Given the description of an element on the screen output the (x, y) to click on. 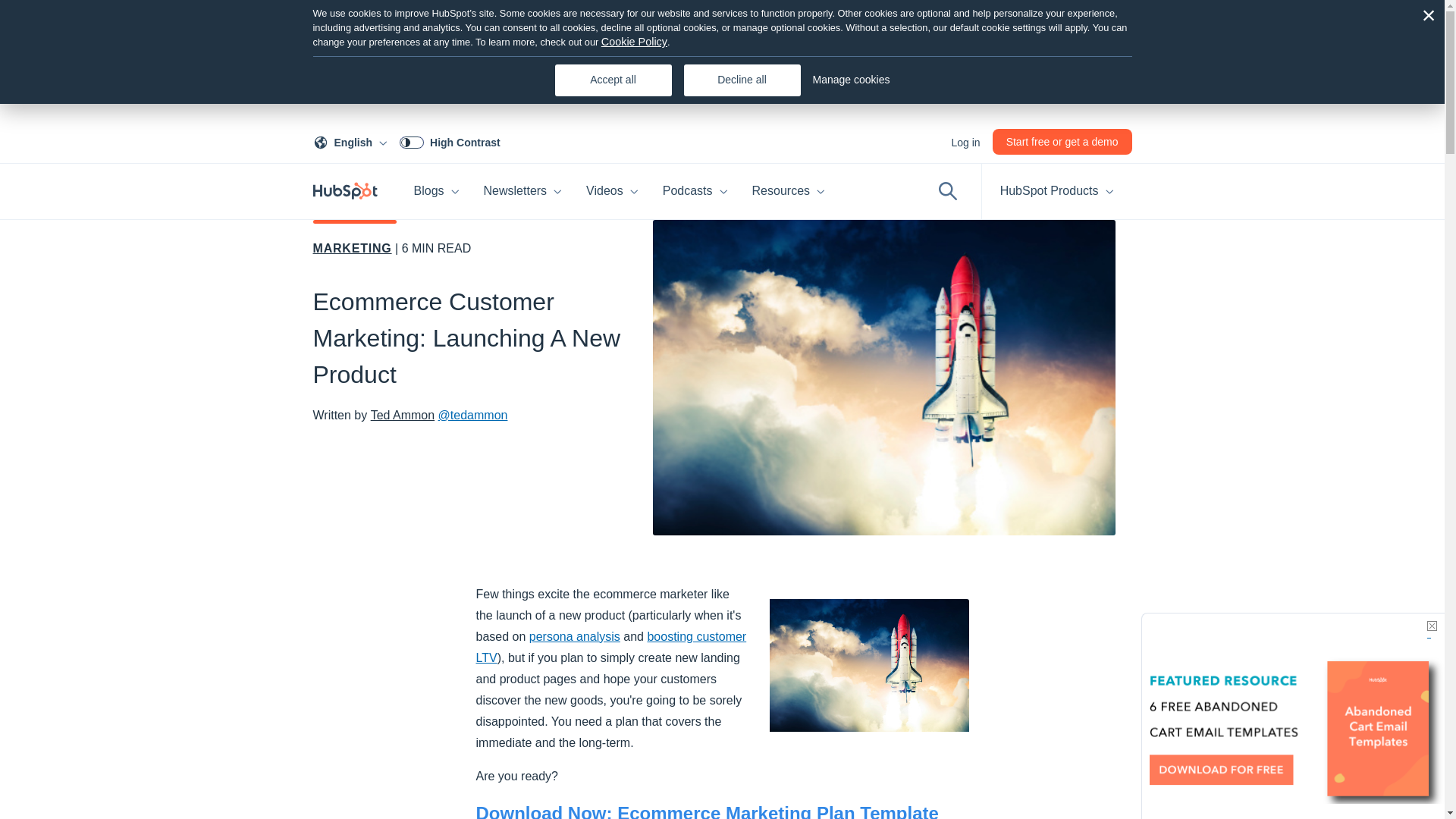
Download Now: Ecommerce Marketing Plan Template (707, 810)
Newsletters (523, 191)
Log in (964, 142)
High Contrast (353, 142)
Blogs (452, 142)
Start free or get a demo (436, 191)
